Given the description of an element on the screen output the (x, y) to click on. 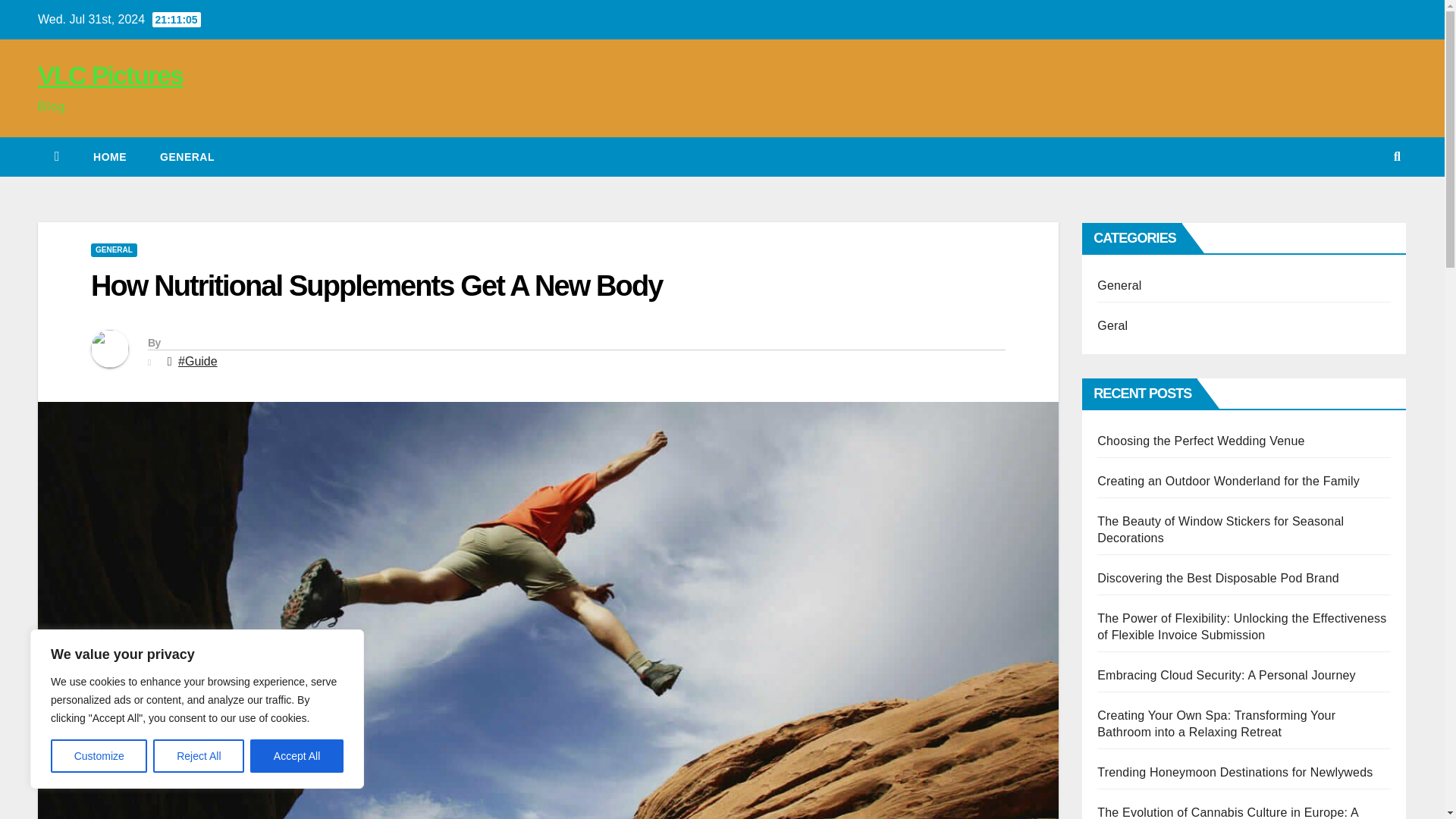
HOME (109, 156)
General (186, 156)
Home (109, 156)
GENERAL (113, 250)
VLC Pictures (110, 74)
Permalink to: How Nutritional Supplements Get A New Body (376, 286)
Reject All (198, 756)
How Nutritional Supplements Get A New Body (376, 286)
GENERAL (186, 156)
Accept All (296, 756)
